Given the description of an element on the screen output the (x, y) to click on. 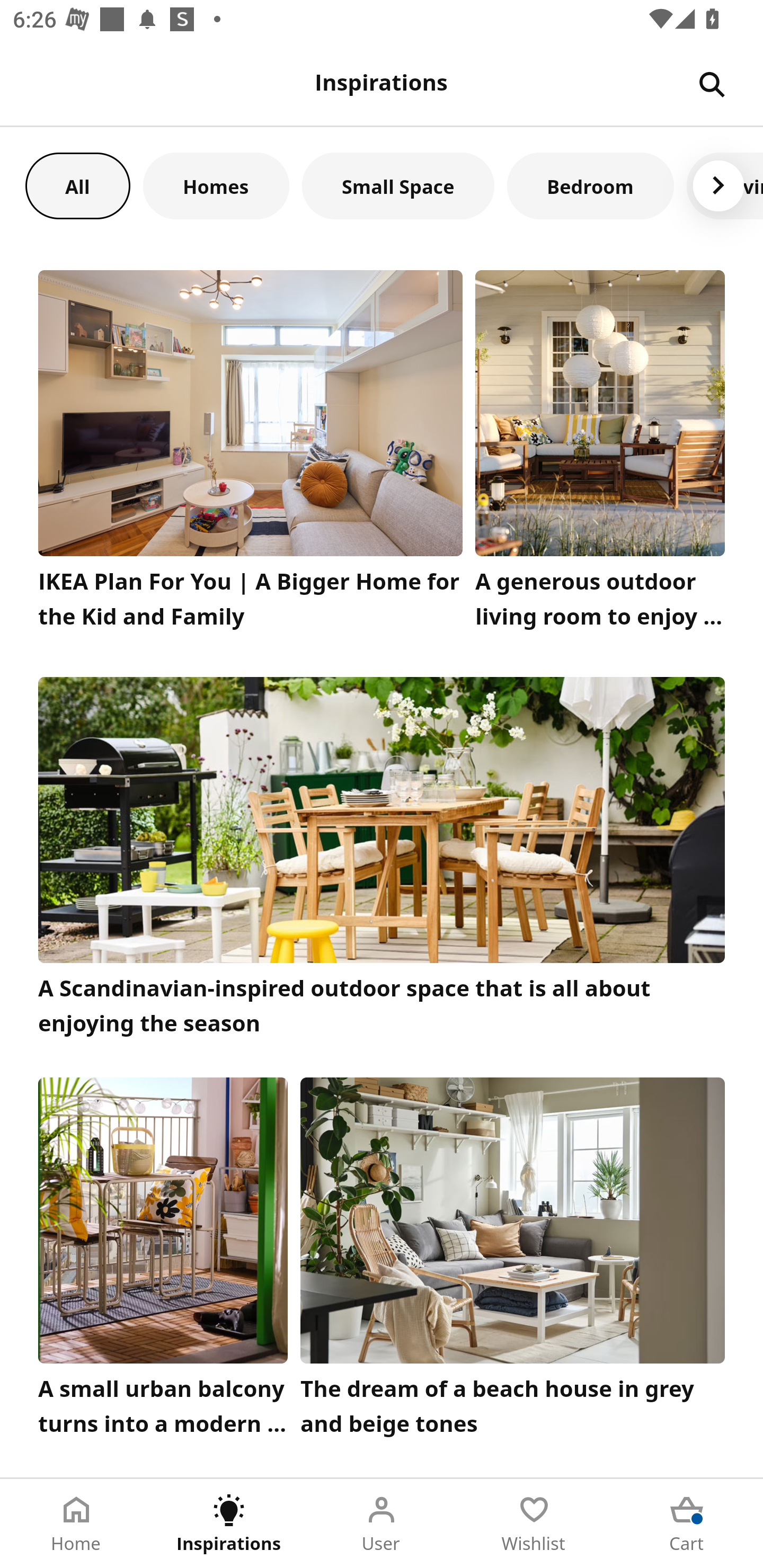
All (77, 185)
Homes (216, 185)
Small Space (398, 185)
Bedroom (590, 185)
The dream of a beach house in grey and beige tones (512, 1261)
Home
Tab 1 of 5 (76, 1522)
Inspirations
Tab 2 of 5 (228, 1522)
User
Tab 3 of 5 (381, 1522)
Wishlist
Tab 4 of 5 (533, 1522)
Cart
Tab 5 of 5 (686, 1522)
